Given the description of an element on the screen output the (x, y) to click on. 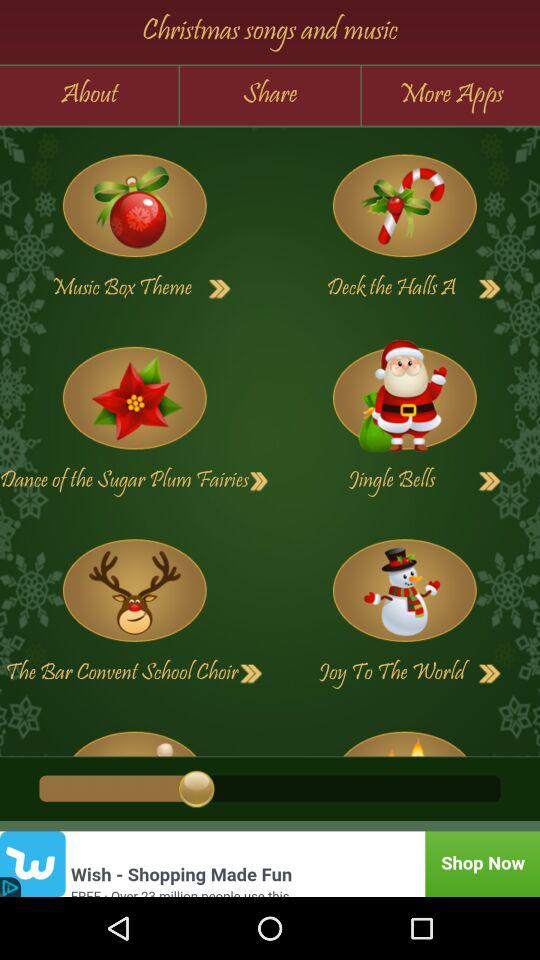
go to next (490, 481)
